Given the description of an element on the screen output the (x, y) to click on. 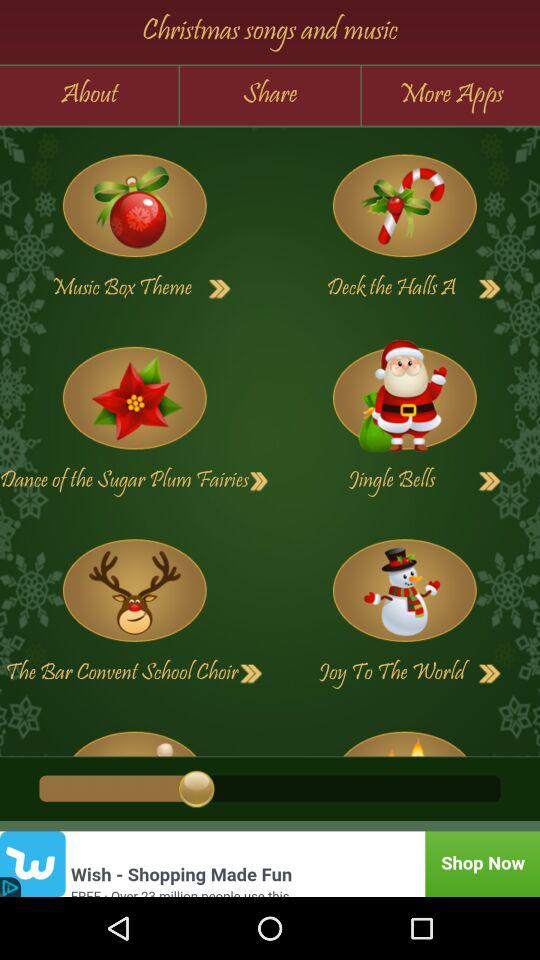
go to next (490, 481)
